Given the description of an element on the screen output the (x, y) to click on. 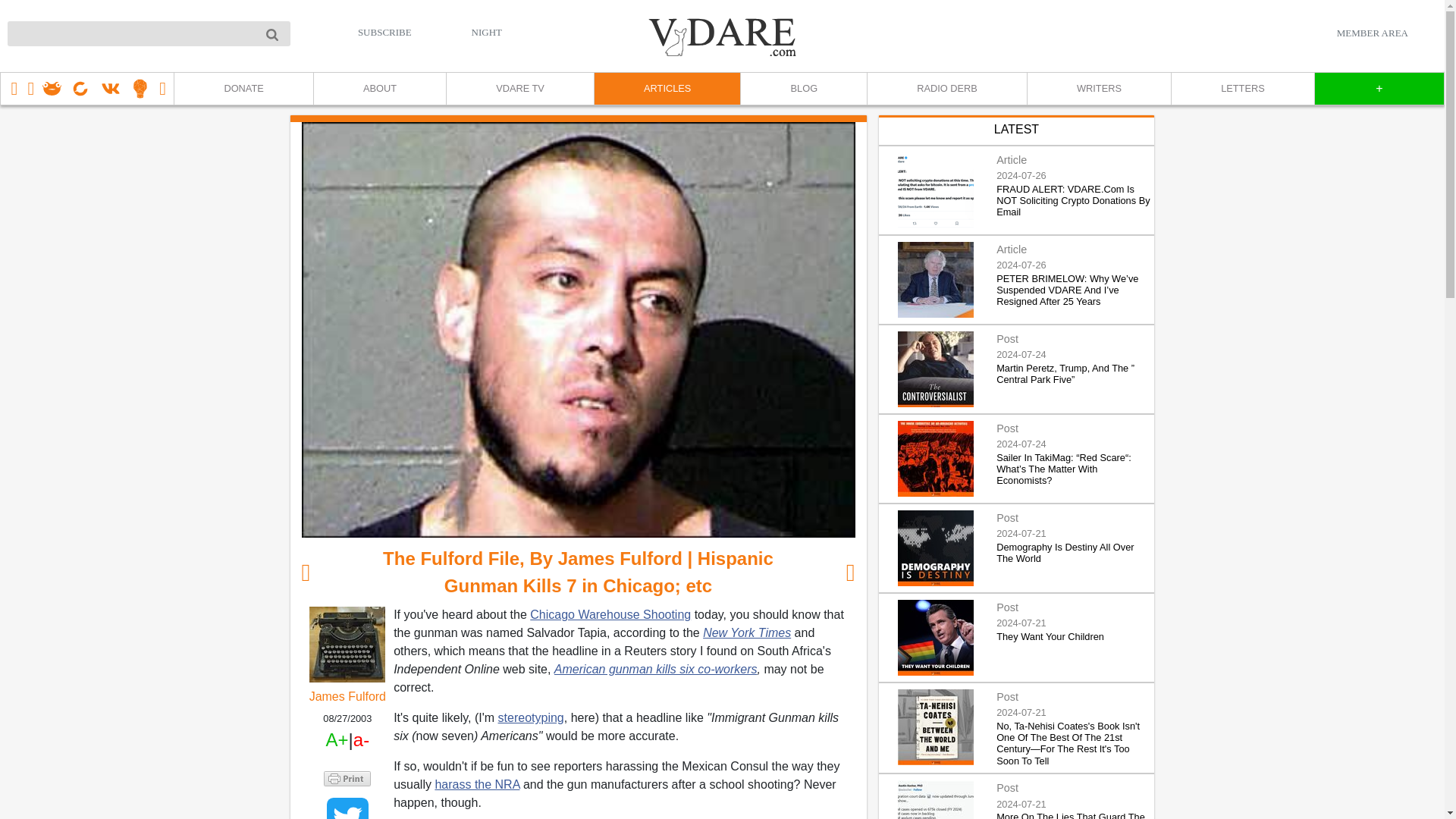
DONATE (243, 88)
LETTERS (1242, 88)
ARTICLES (666, 88)
Share to Twitter (347, 808)
WRITERS (1098, 88)
RADIO DERB (946, 88)
ABOUT (379, 88)
Printer Friendly and PDF (347, 778)
MEMBER AREA (1371, 32)
SUBSCRIBE (385, 31)
VDARE TV (519, 88)
BLOG (802, 88)
